Given the description of an element on the screen output the (x, y) to click on. 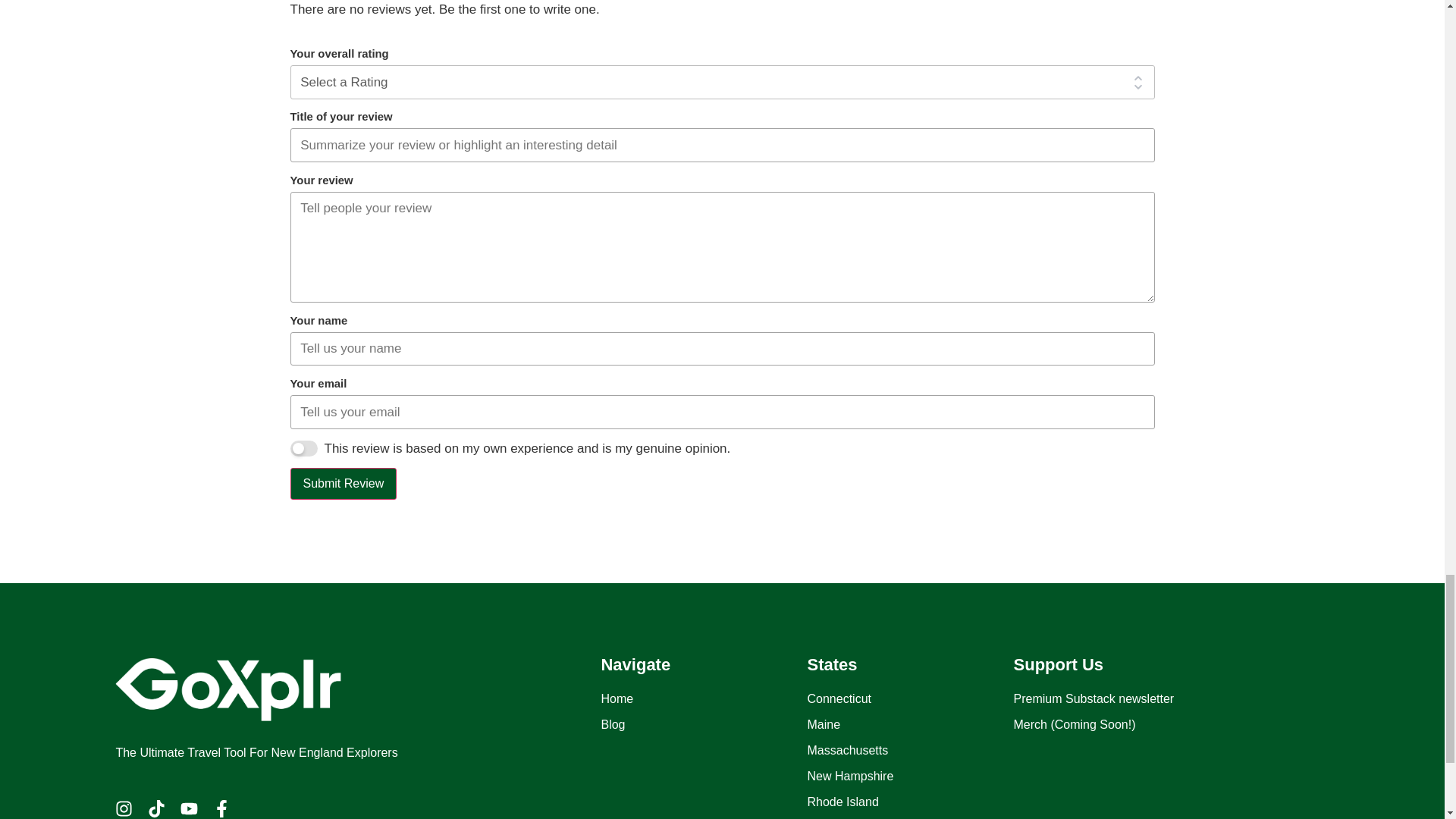
Connecticut (909, 699)
New Hampshire (909, 776)
Rhode Island (909, 802)
Massachusetts (909, 751)
Blog (702, 724)
Premium Substack newsletter (1116, 699)
1 (303, 448)
Submit Review (342, 483)
Maine (909, 724)
Home (702, 699)
